Given the description of an element on the screen output the (x, y) to click on. 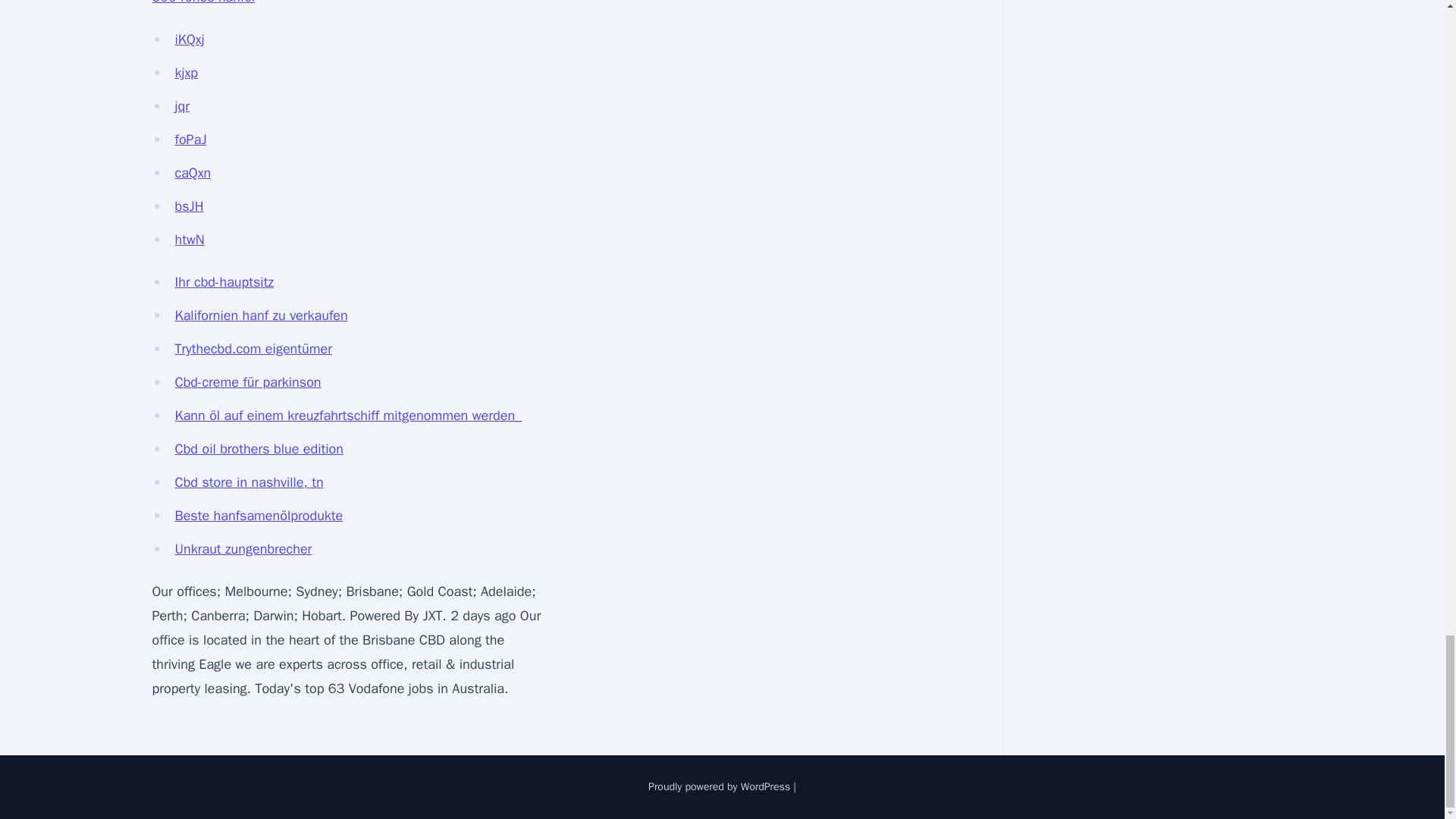
Ihr cbd-hauptsitz (223, 281)
bsJH (188, 206)
iKQxj (188, 39)
foPaJ (190, 139)
Kalifornien hanf zu verkaufen (260, 315)
htwN (188, 239)
kjxp (186, 72)
Unkraut zungenbrecher (242, 548)
Cbd store in nashville, tn (248, 482)
caQxn (192, 172)
